Given the description of an element on the screen output the (x, y) to click on. 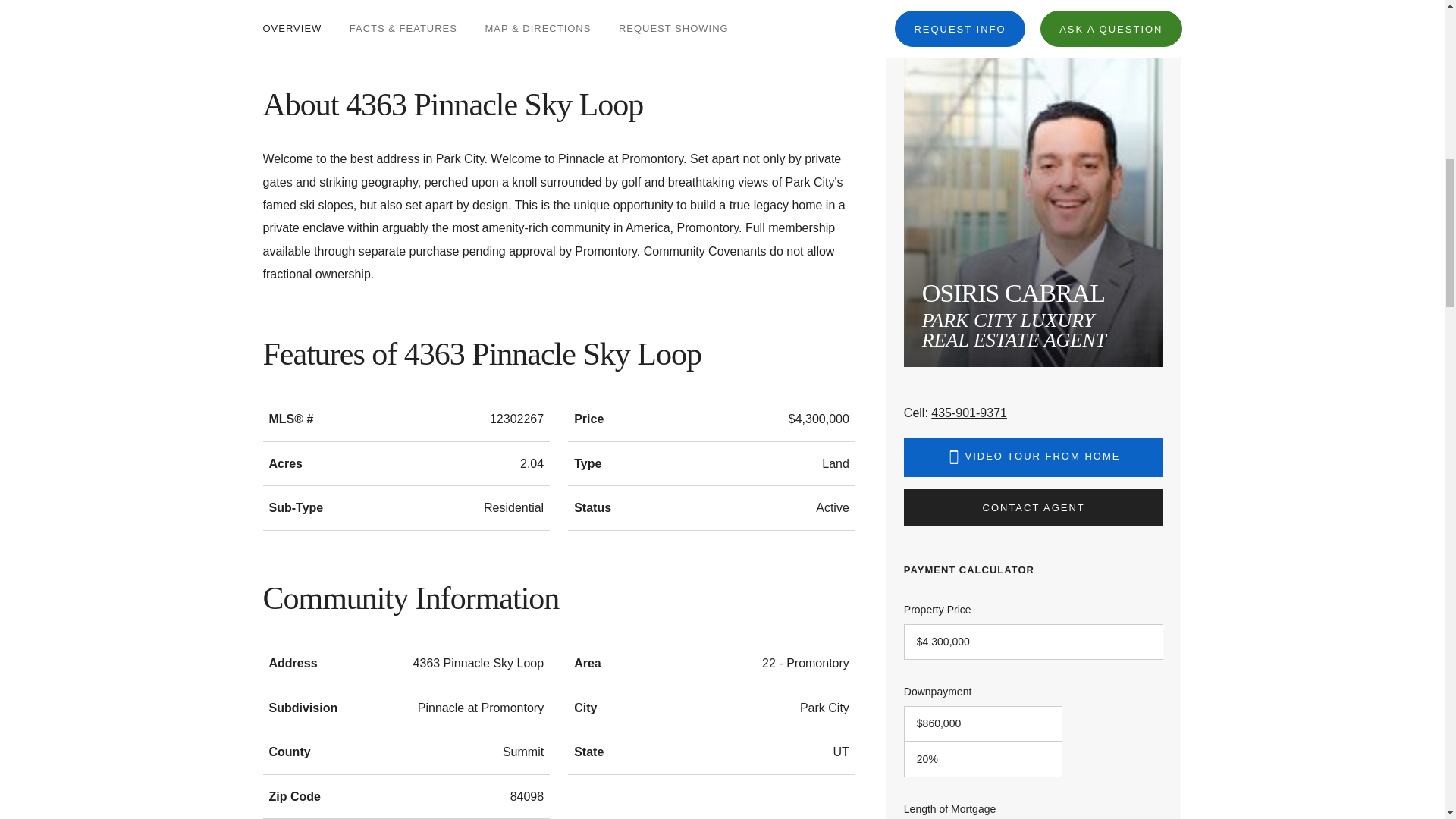
REQUEST SHOWING (673, 18)
OVERVIEW (291, 18)
MOBILE ICON (953, 457)
REQUEST INFO (960, 12)
